Given the description of an element on the screen output the (x, y) to click on. 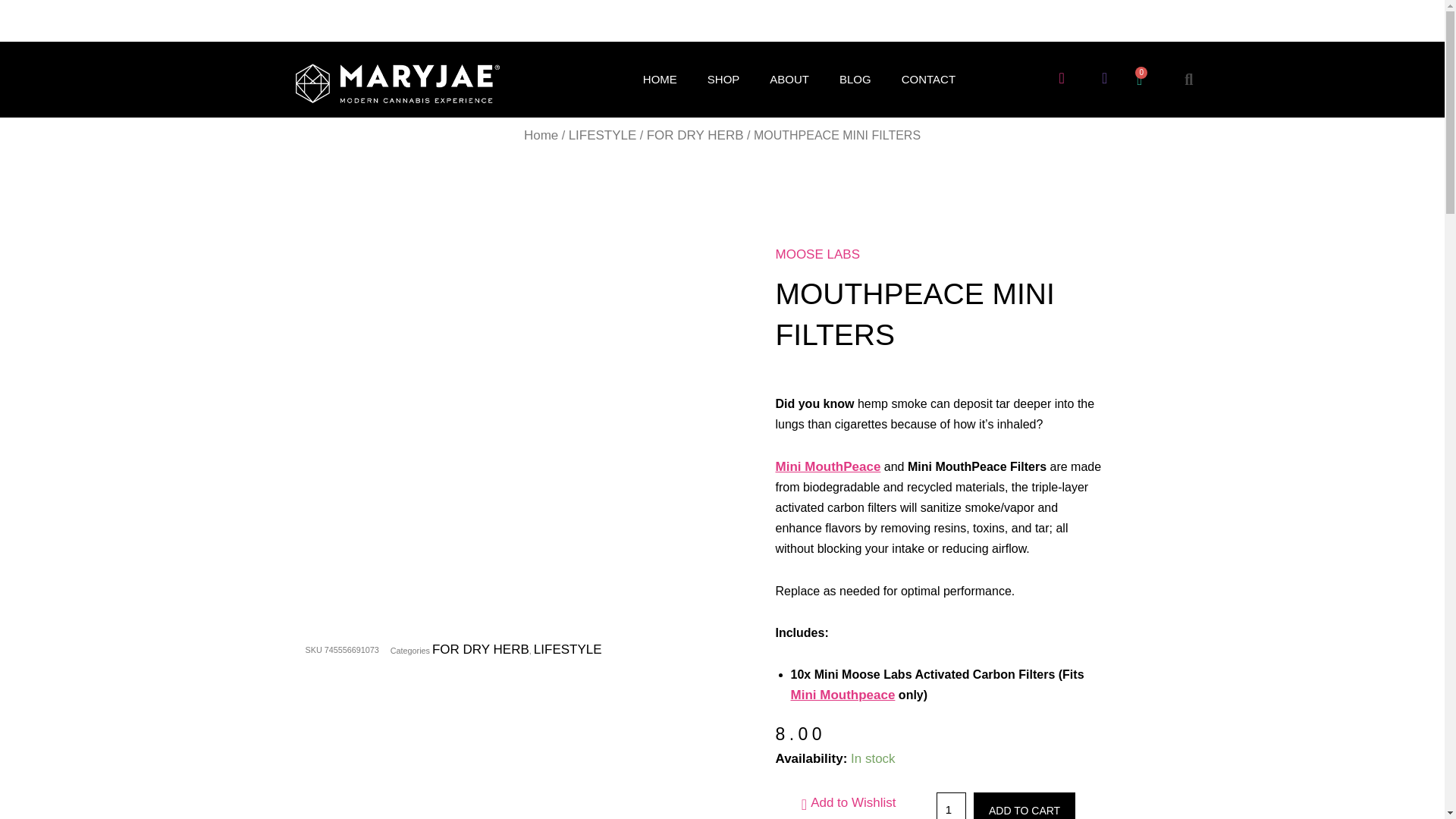
View brand (816, 254)
1 (951, 805)
CONTACT (928, 79)
ABOUT (789, 79)
